Given the description of an element on the screen output the (x, y) to click on. 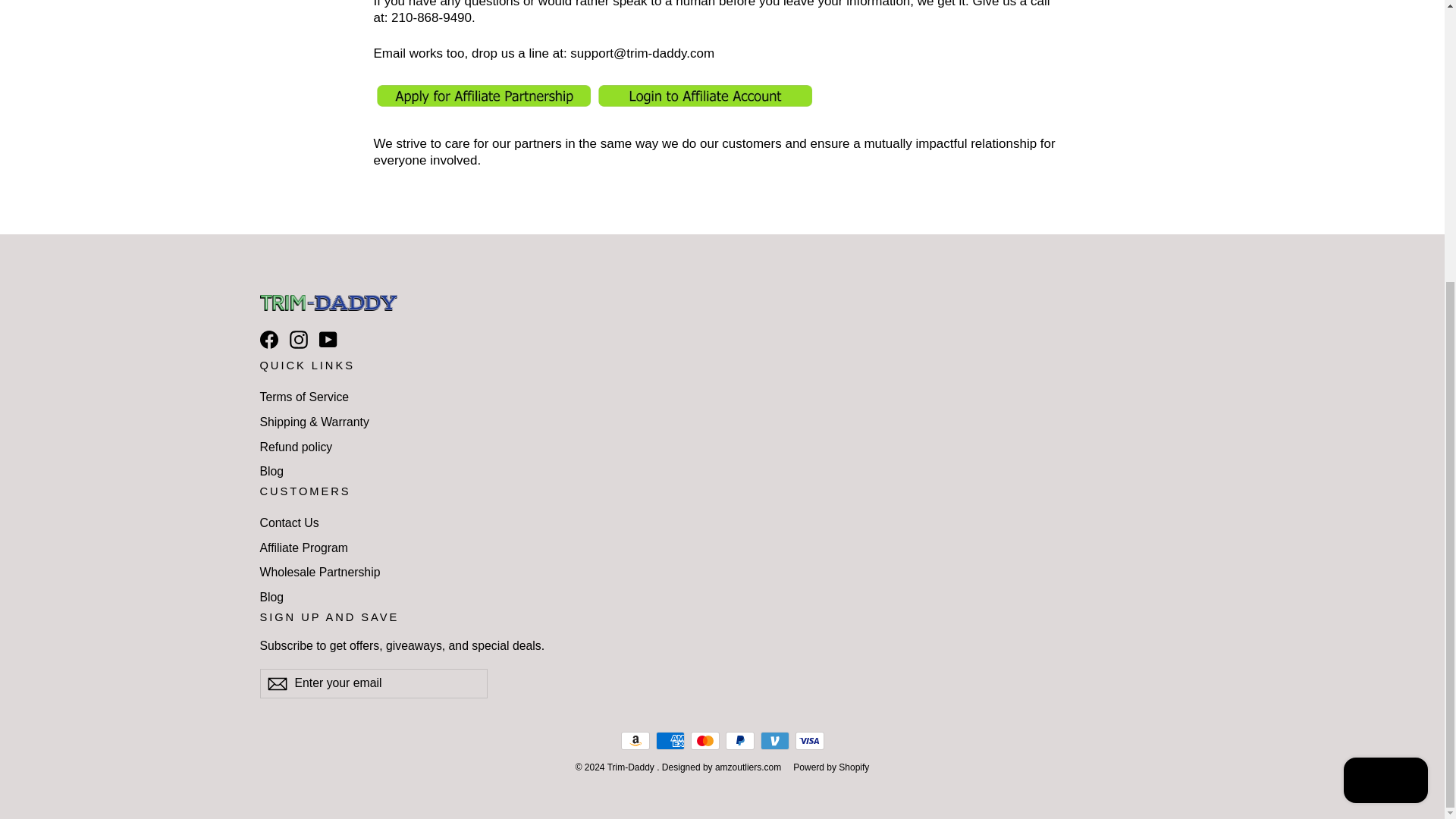
Trim-Daddy on YouTube (327, 339)
Amazon (634, 741)
PayPal (739, 741)
Visa (809, 741)
Register to Trim Daddy Affiliate Program (483, 105)
American Express (669, 741)
Trim-Daddy on Instagram (298, 339)
View your Affiliate Account (704, 105)
Mastercard (704, 741)
Venmo (774, 741)
